Given the description of an element on the screen output the (x, y) to click on. 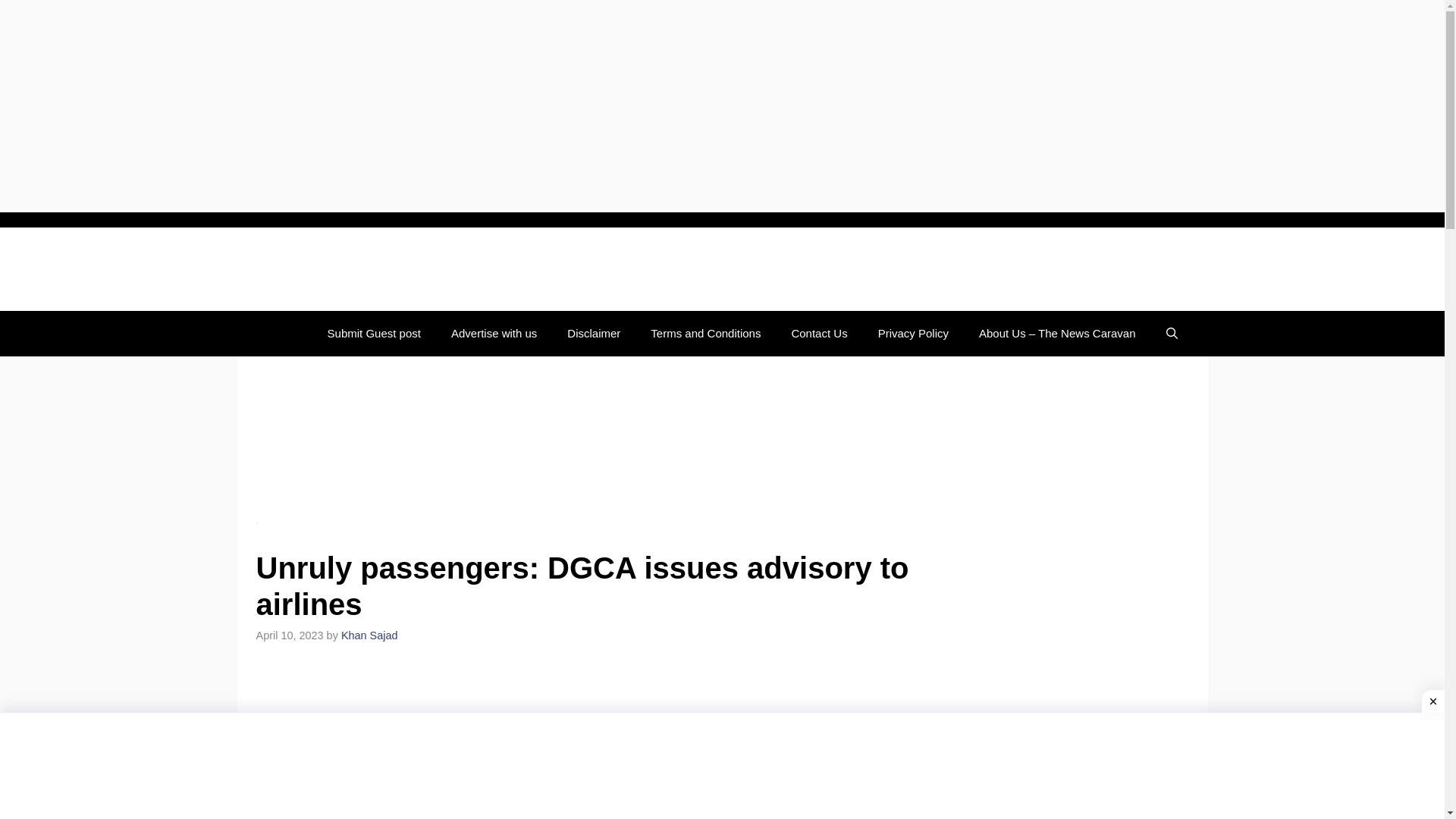
Submit Guest post (374, 333)
Advertise with us (493, 333)
Privacy Policy (913, 333)
Khan Sajad (368, 635)
Terms and Conditions (705, 333)
Contact Us (818, 333)
The News Caravan (350, 269)
Disclaimer (592, 333)
Advertisement (583, 744)
